Given the description of an element on the screen output the (x, y) to click on. 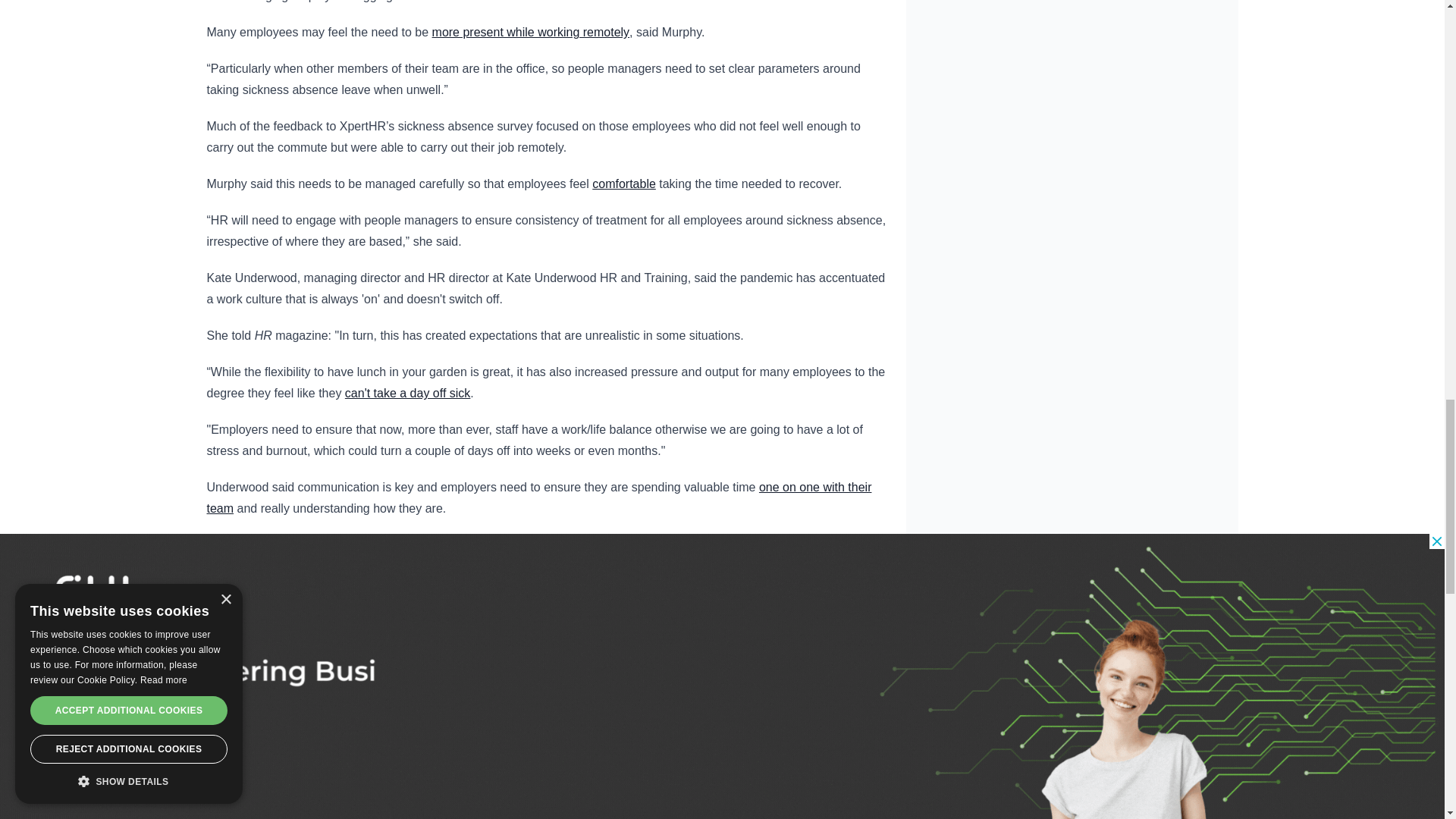
3rd party ad content (722, 736)
